Given the description of an element on the screen output the (x, y) to click on. 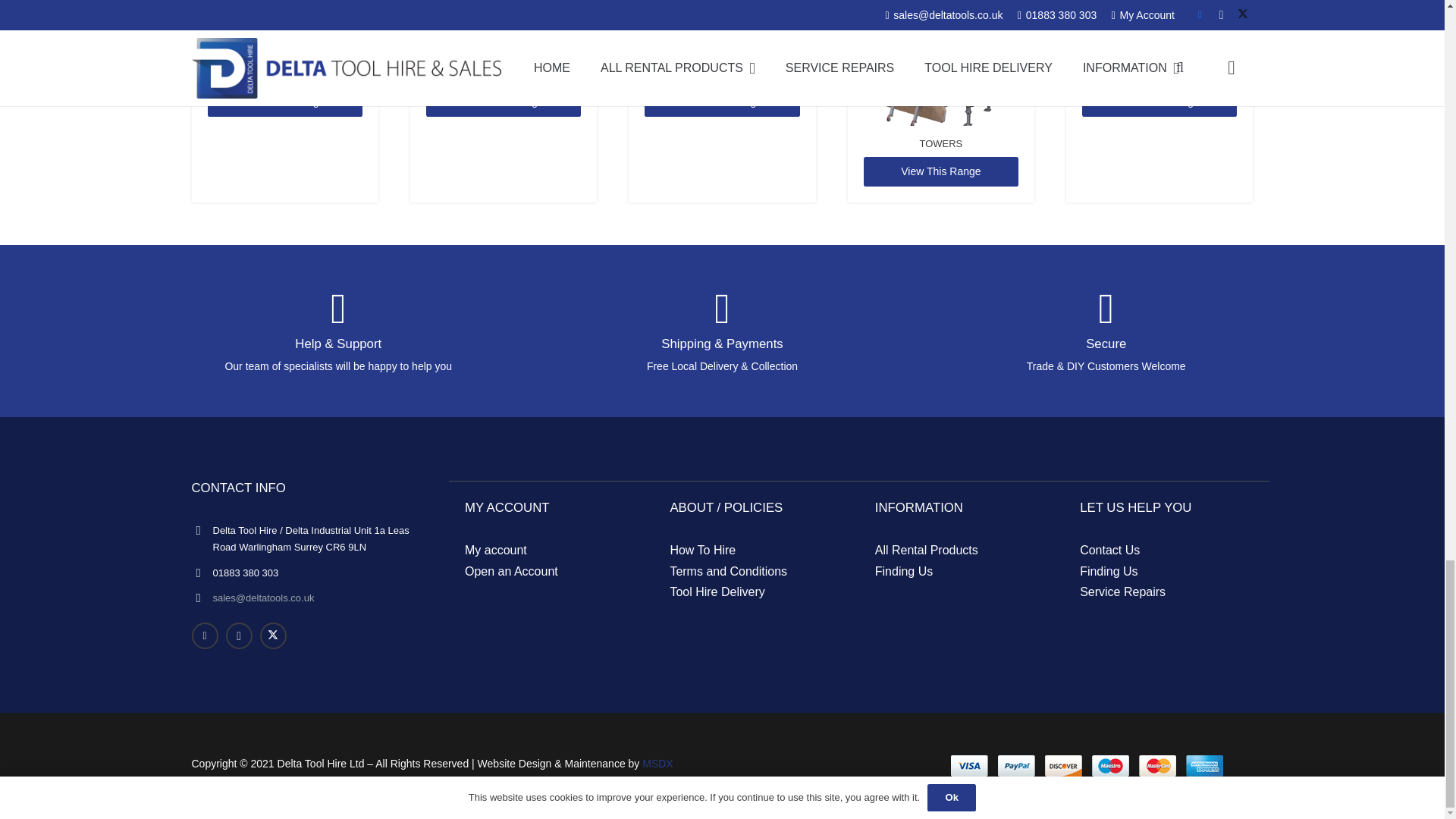
Twitter (272, 635)
Facebook (203, 635)
Instagram (238, 635)
